Given the description of an element on the screen output the (x, y) to click on. 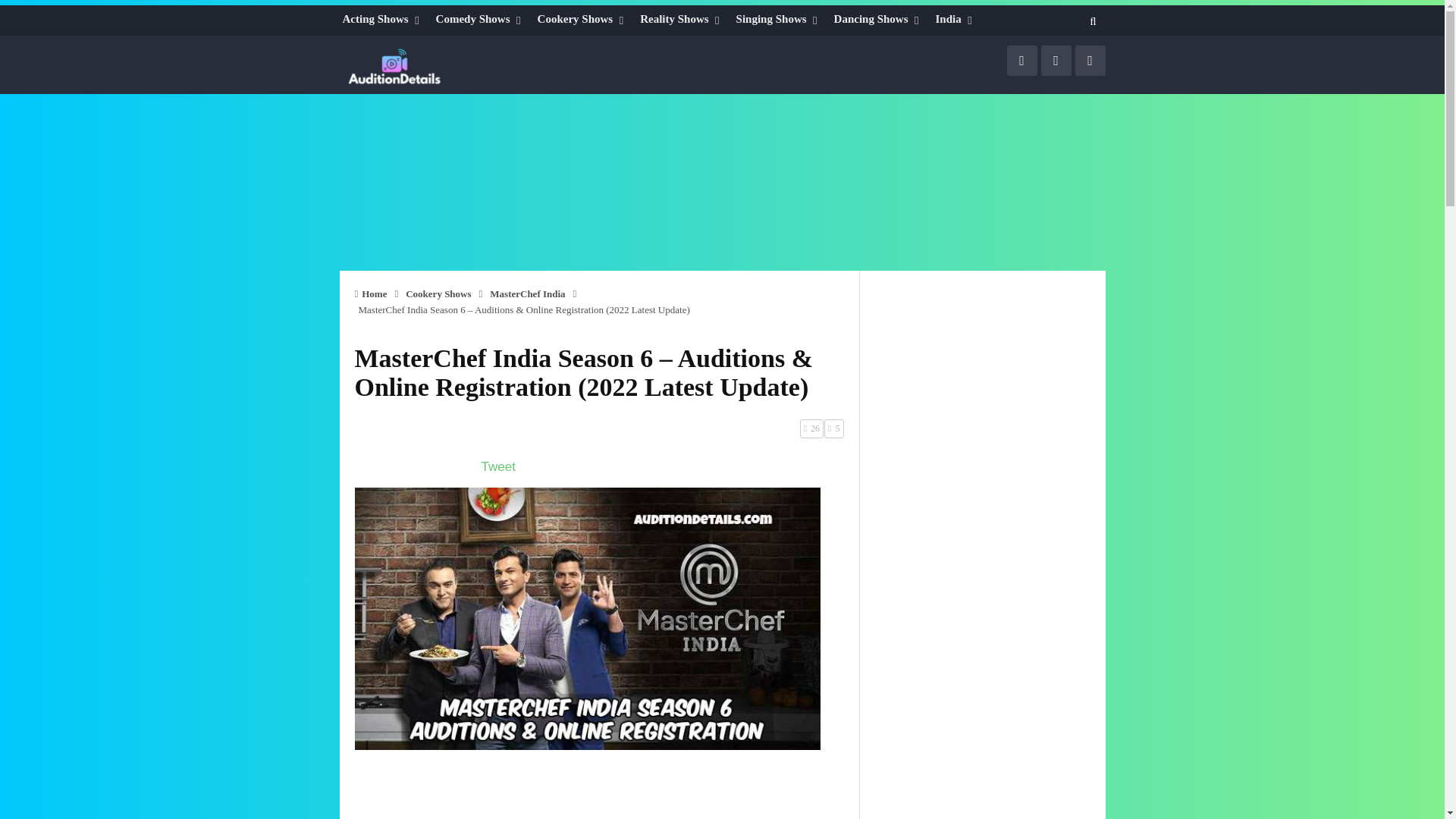
Reality Shows (681, 18)
Advertisement (599, 791)
Acting Shows (382, 18)
Cookery Shows (582, 18)
Advertisement (721, 226)
Singing Shows (779, 18)
Comedy Shows (480, 18)
